Given the description of an element on the screen output the (x, y) to click on. 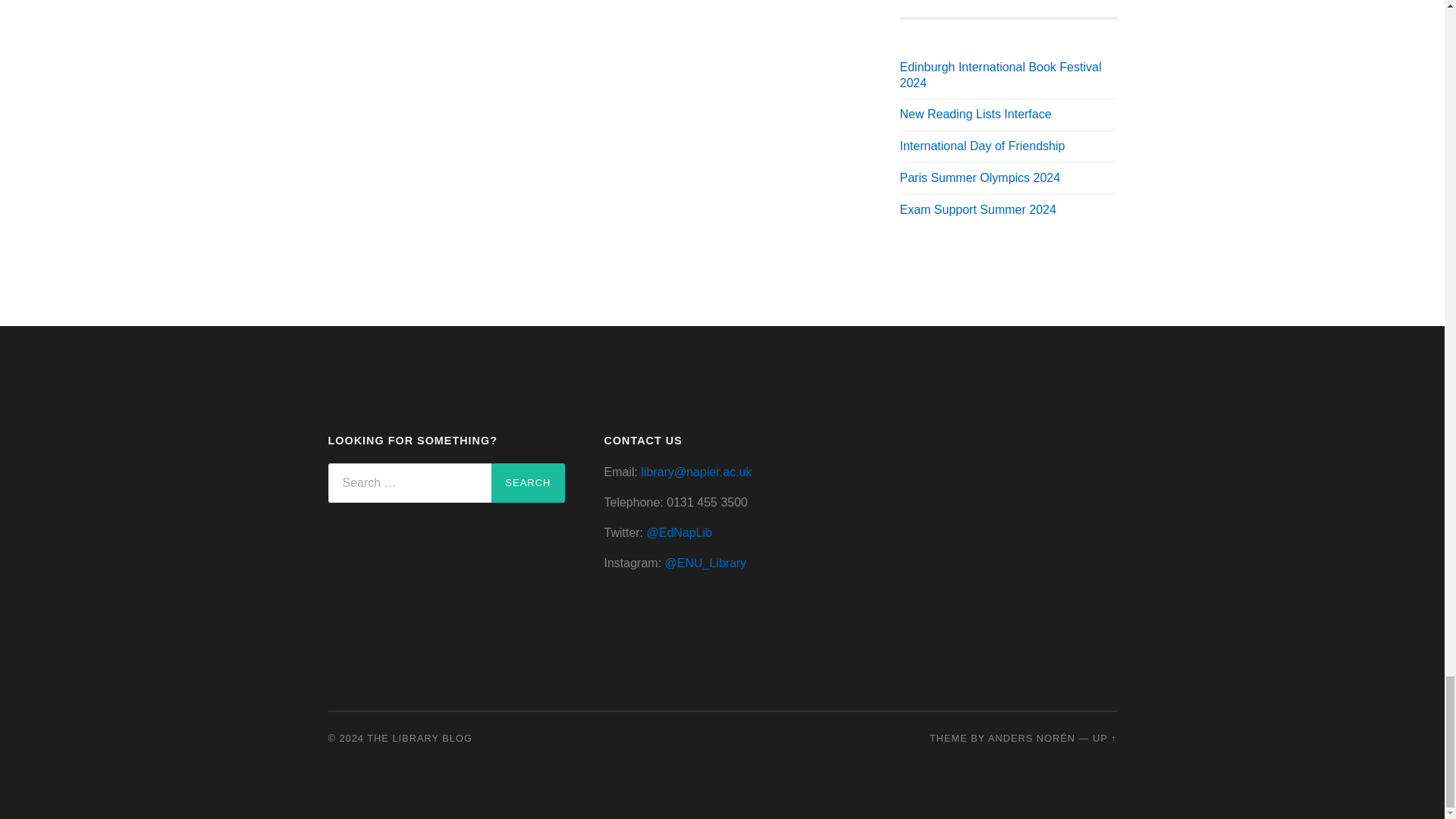
Search (528, 482)
Search (528, 482)
To the top (1104, 737)
